Given the description of an element on the screen output the (x, y) to click on. 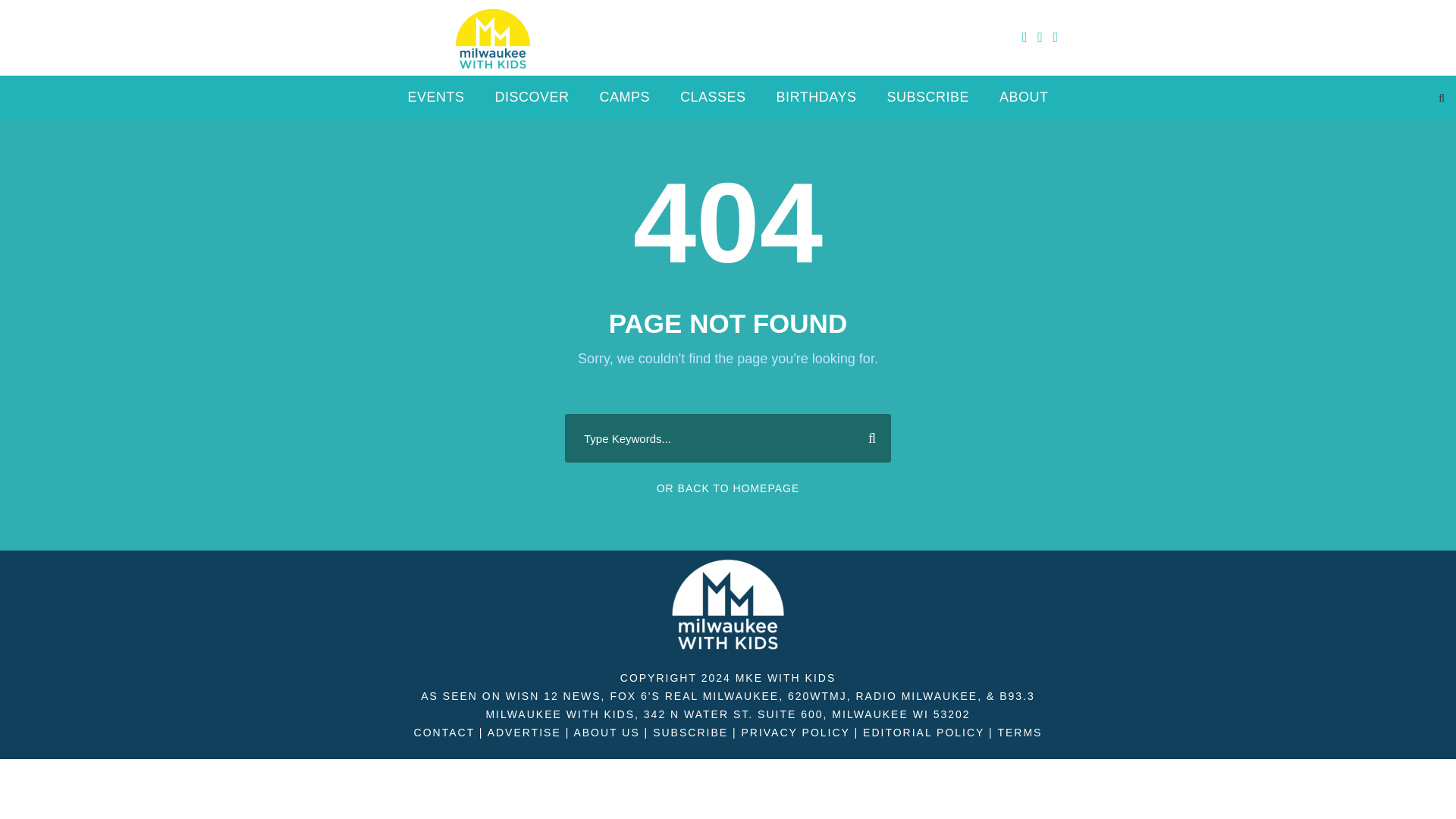
ADVERTISE (523, 732)
PRIVACY POLICY (794, 732)
Search (866, 438)
SUBSCRIBE (690, 732)
TERMS (1019, 732)
DISCOVER (532, 102)
ABOUT (1023, 102)
BIRTHDAYS (816, 102)
EDITORIAL POLICY (923, 732)
EVENTS (435, 102)
CAMPS (624, 102)
ABOUT US (606, 732)
OR BACK TO HOMEPAGE (727, 488)
CONTACT (443, 732)
SUBSCRIBE (927, 102)
